Given the description of an element on the screen output the (x, y) to click on. 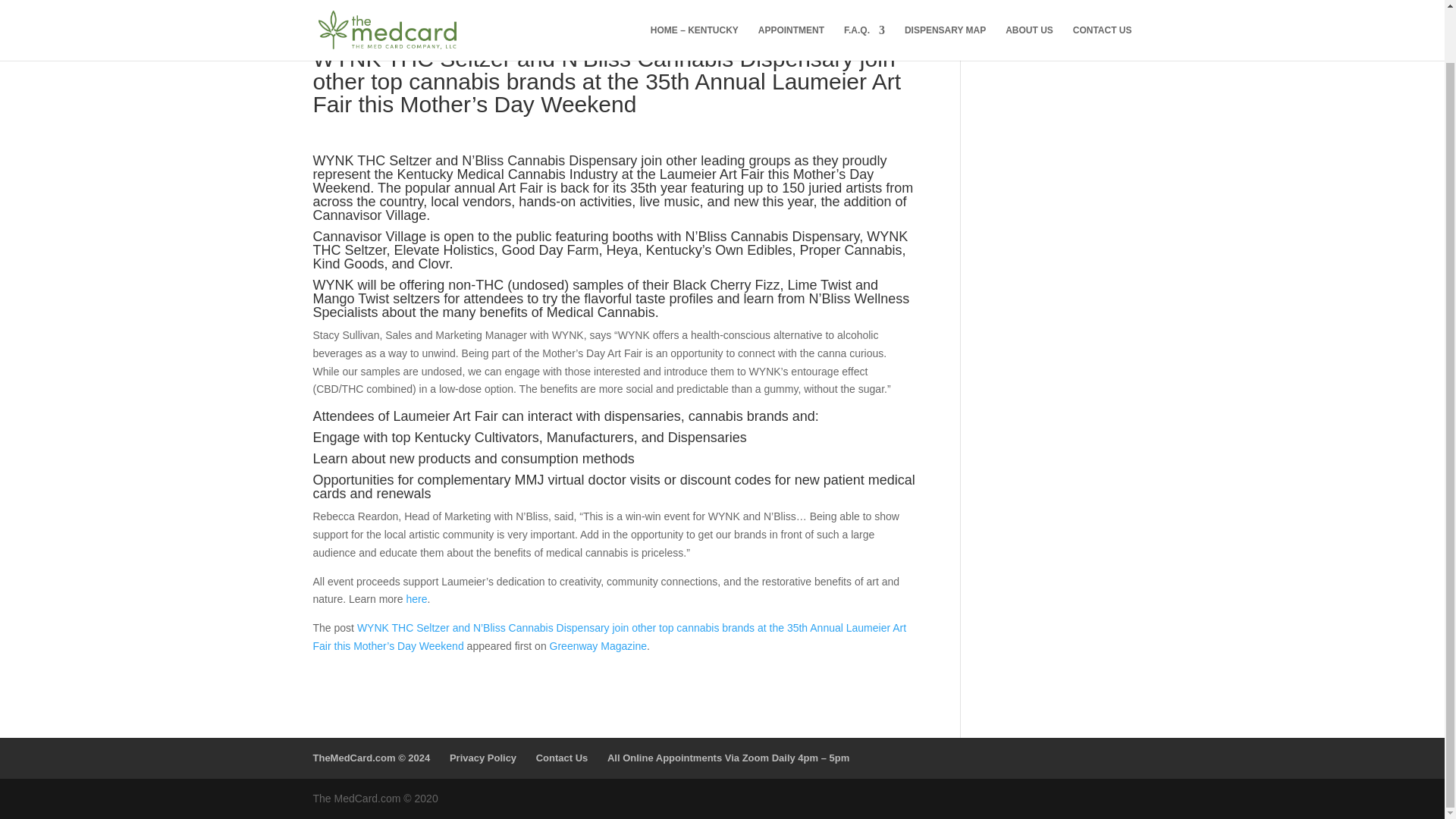
APPOINTMENT (791, 2)
ABOUT US (1029, 2)
Greenway Magazine (598, 645)
Contact Us (561, 757)
Cannavisor Village (369, 236)
DISPENSARY MAP (944, 2)
here (416, 598)
Laumeier Art Fair (711, 174)
Privacy Policy (482, 757)
F.A.Q. (864, 2)
